Given the description of an element on the screen output the (x, y) to click on. 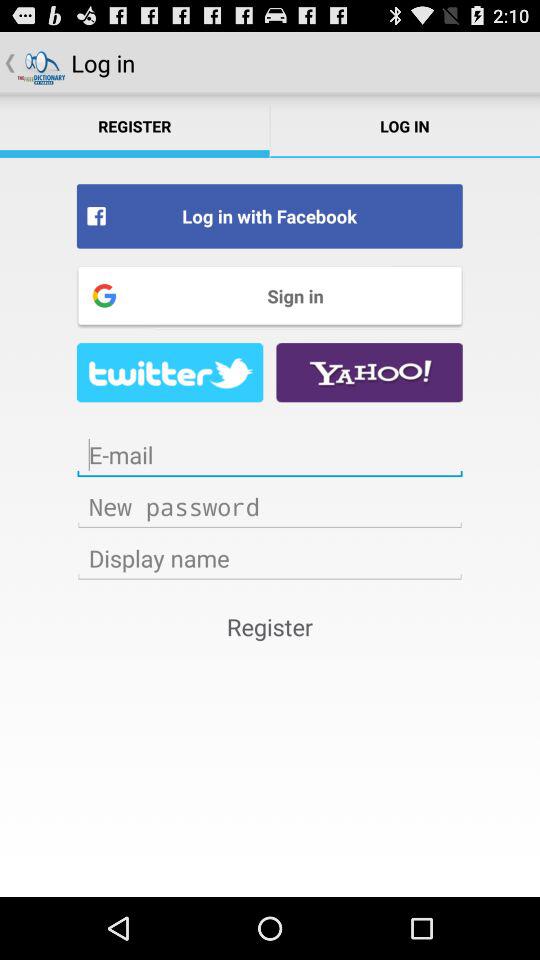
facebook page (169, 372)
